Given the description of an element on the screen output the (x, y) to click on. 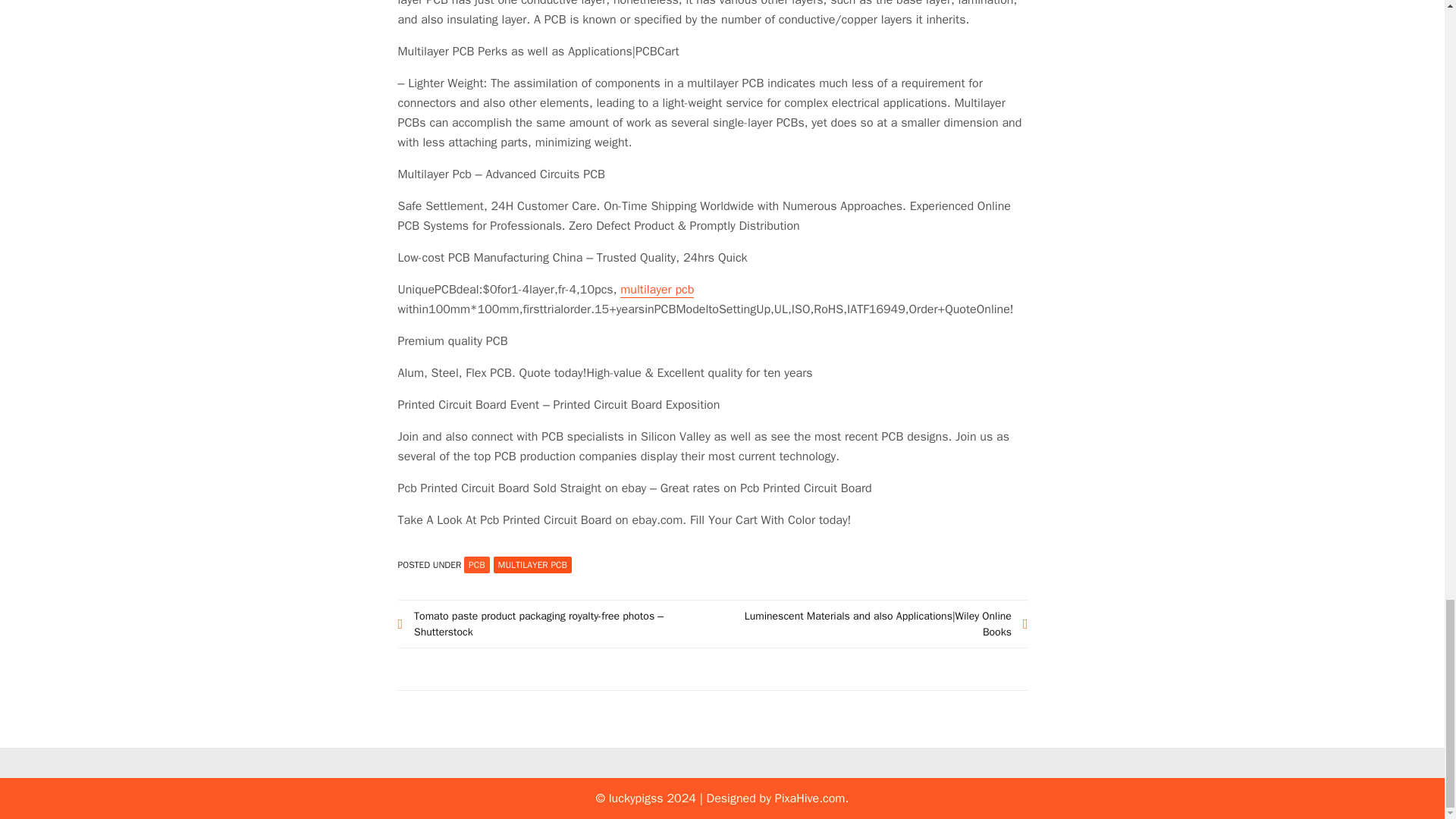
multilayer pcb (657, 289)
MULTILAYER PCB (532, 564)
PCB (476, 564)
PixaHive.com (809, 798)
